Given the description of an element on the screen output the (x, y) to click on. 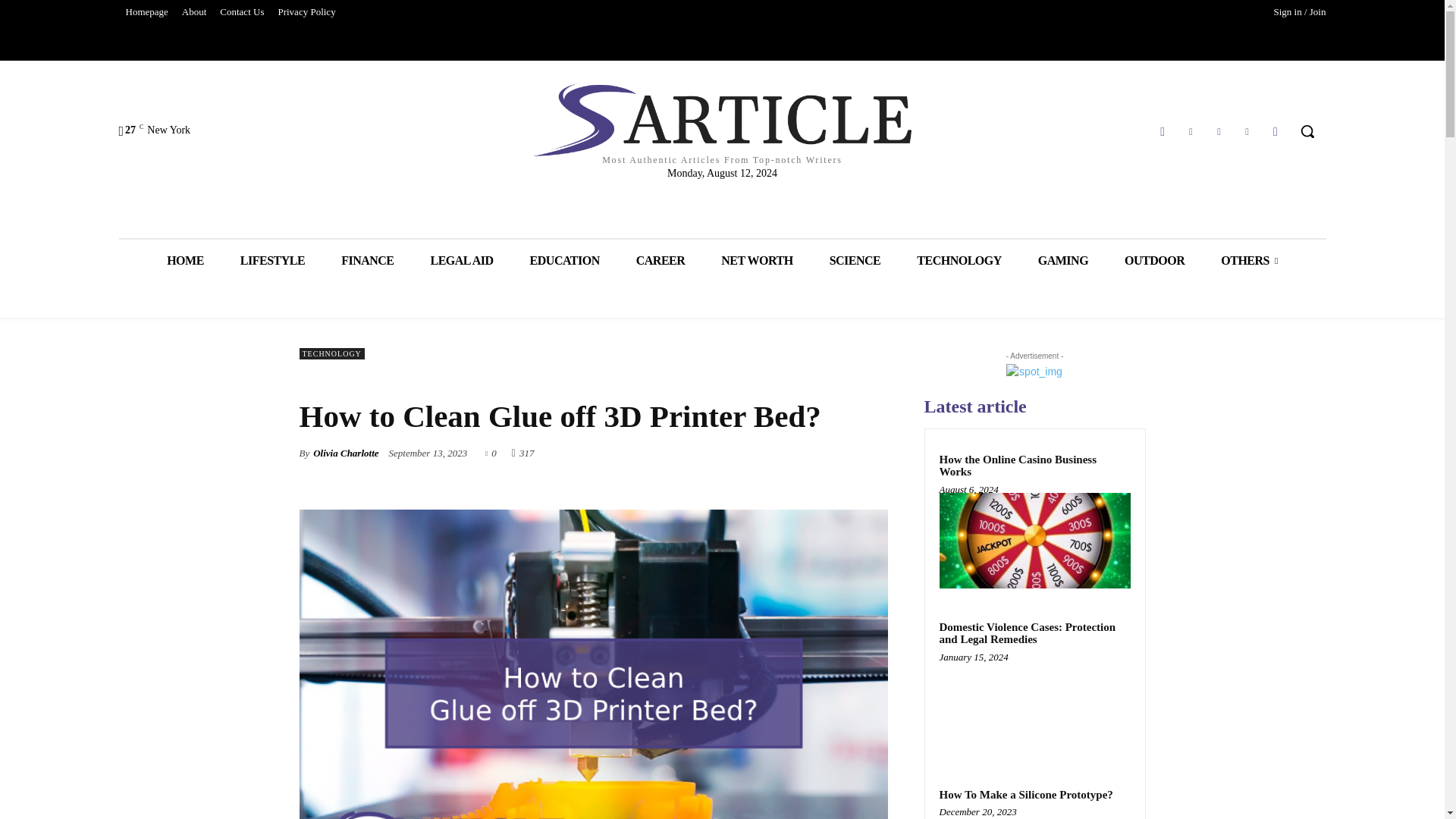
Facebook (1163, 131)
Homepage (145, 12)
Youtube (1275, 131)
Linkedin (1190, 131)
Privacy Policy (306, 12)
Twitter (1246, 131)
Pinterest (1218, 131)
Contact Us (241, 12)
About (194, 12)
